Given the description of an element on the screen output the (x, y) to click on. 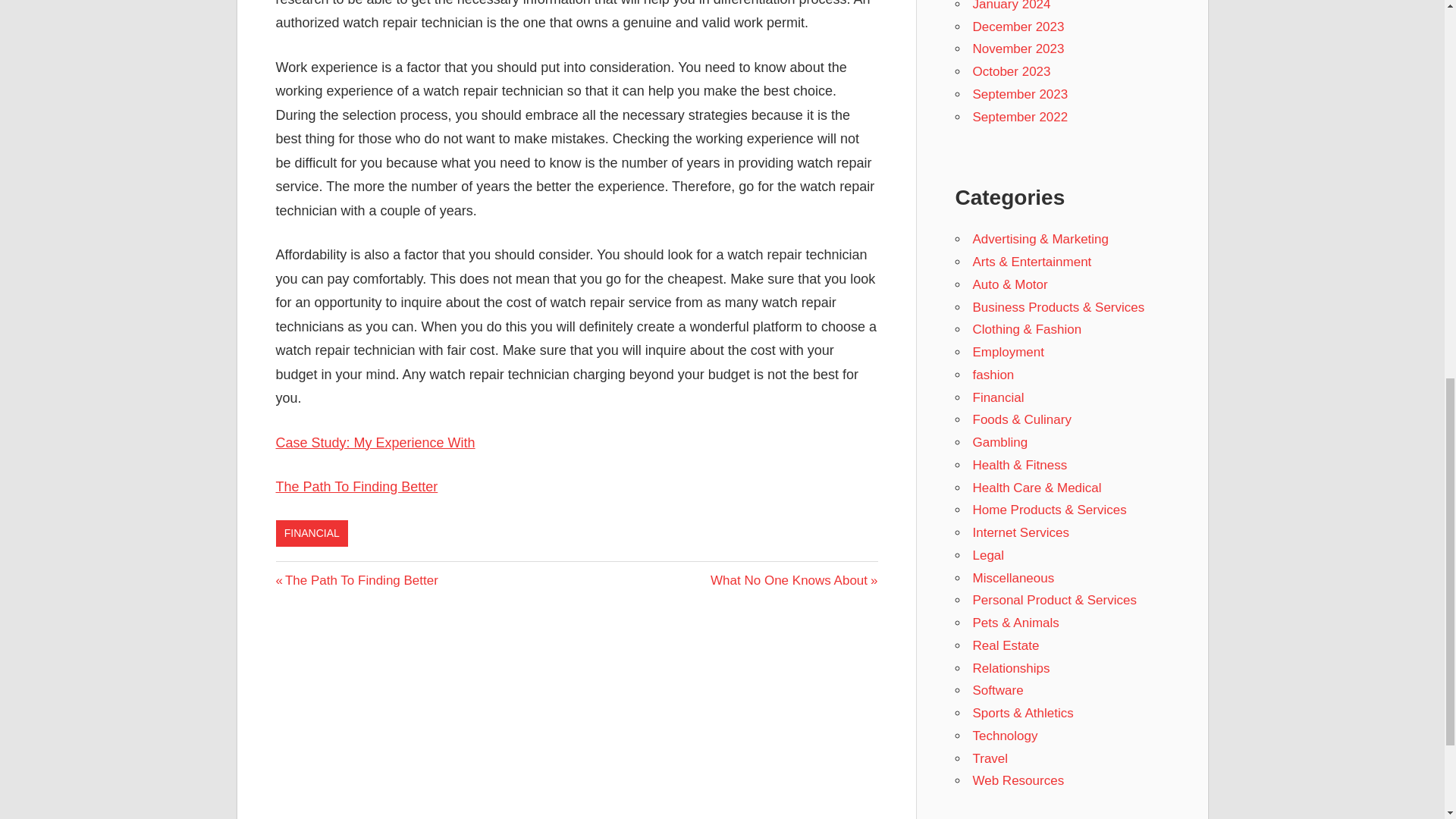
FINANCIAL (312, 533)
January 2024 (1010, 5)
December 2023 (1018, 26)
fashion (992, 374)
September 2023 (1019, 93)
September 2022 (1019, 115)
October 2023 (1010, 71)
Employment (1007, 351)
Gambling (999, 441)
